Given the description of an element on the screen output the (x, y) to click on. 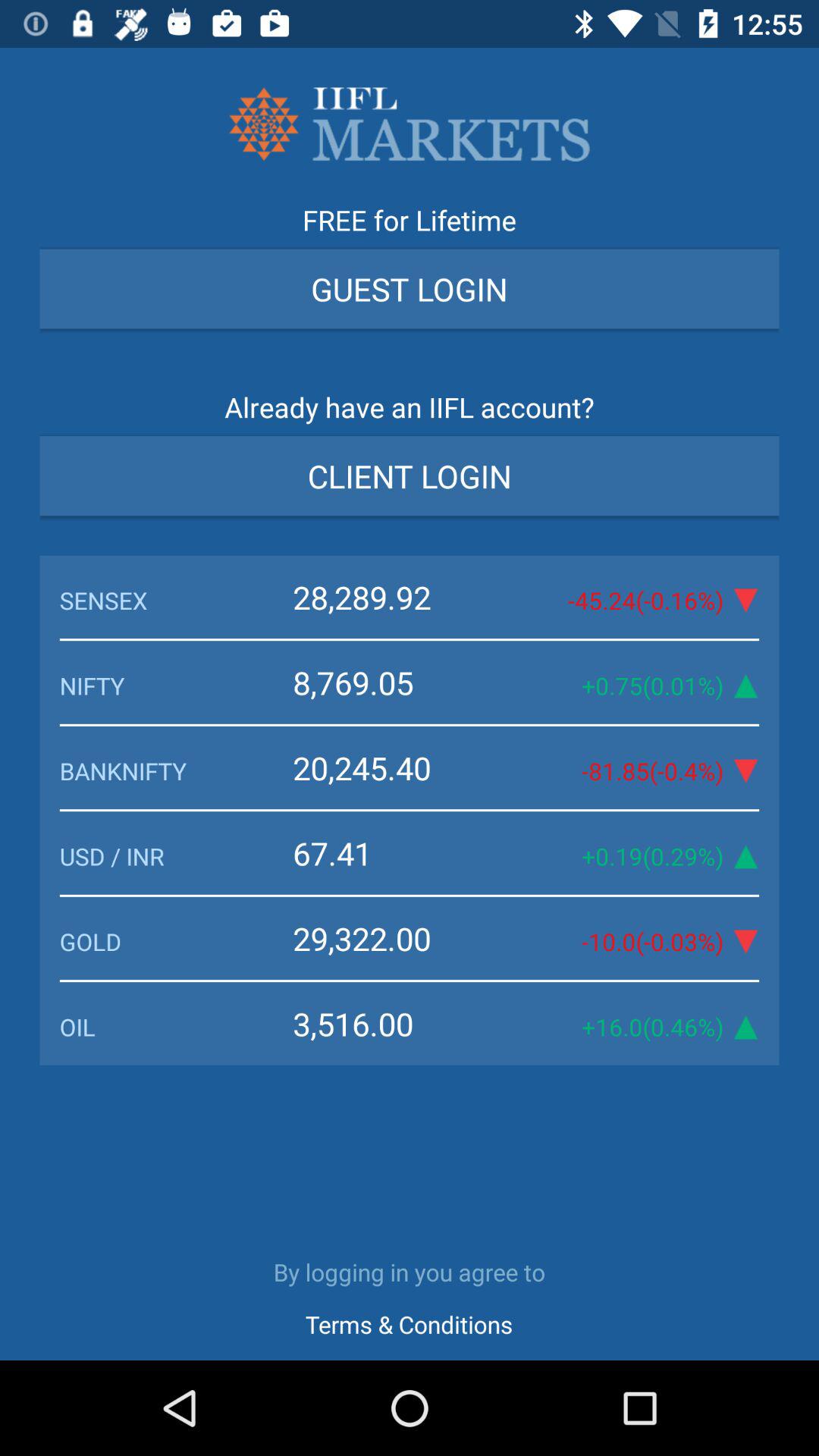
tap already have an icon (409, 412)
